Given the description of an element on the screen output the (x, y) to click on. 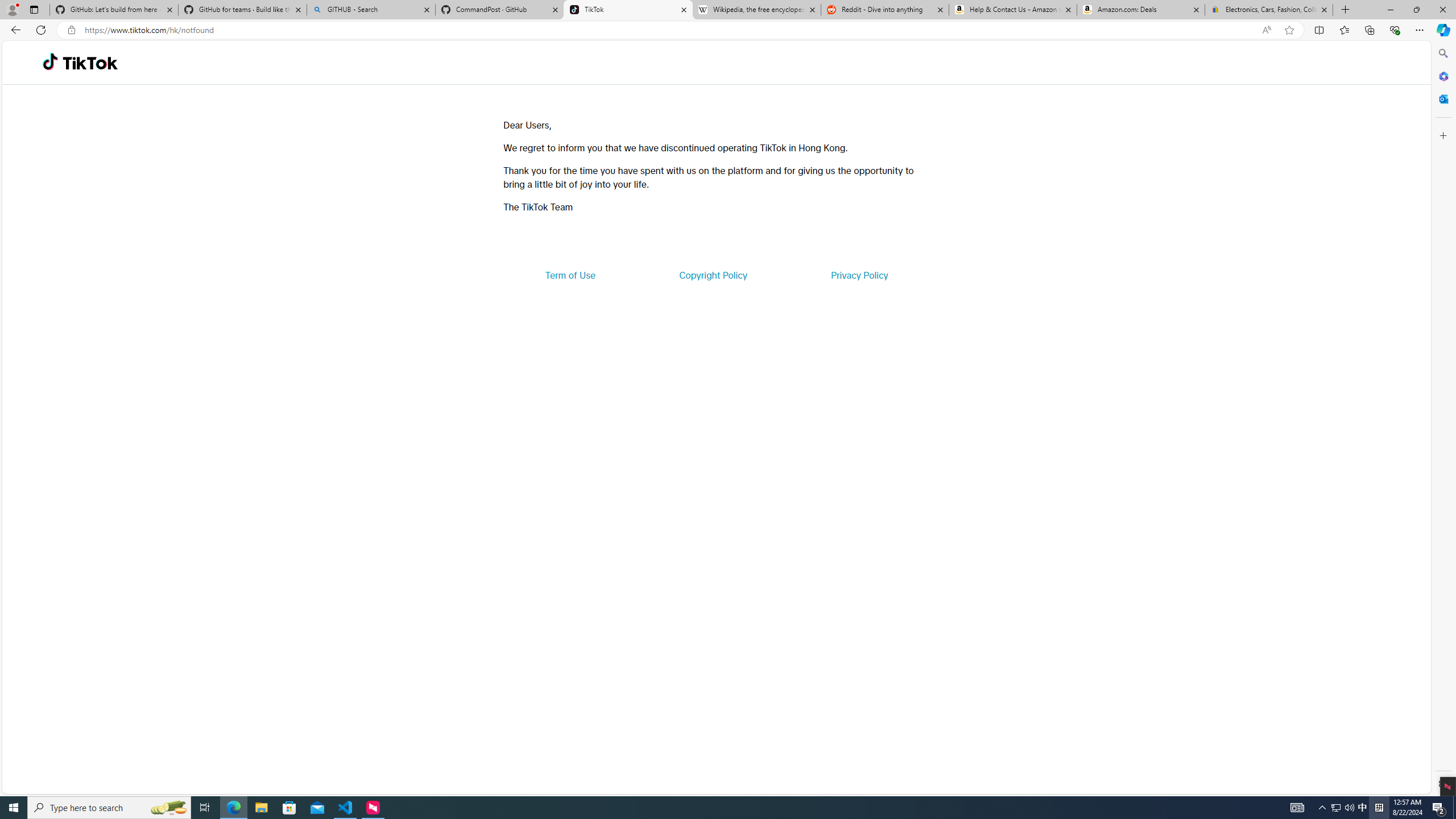
GITHUB - Search (370, 9)
Privacy Policy (858, 274)
Copyright Policy (712, 274)
